Given the description of an element on the screen output the (x, y) to click on. 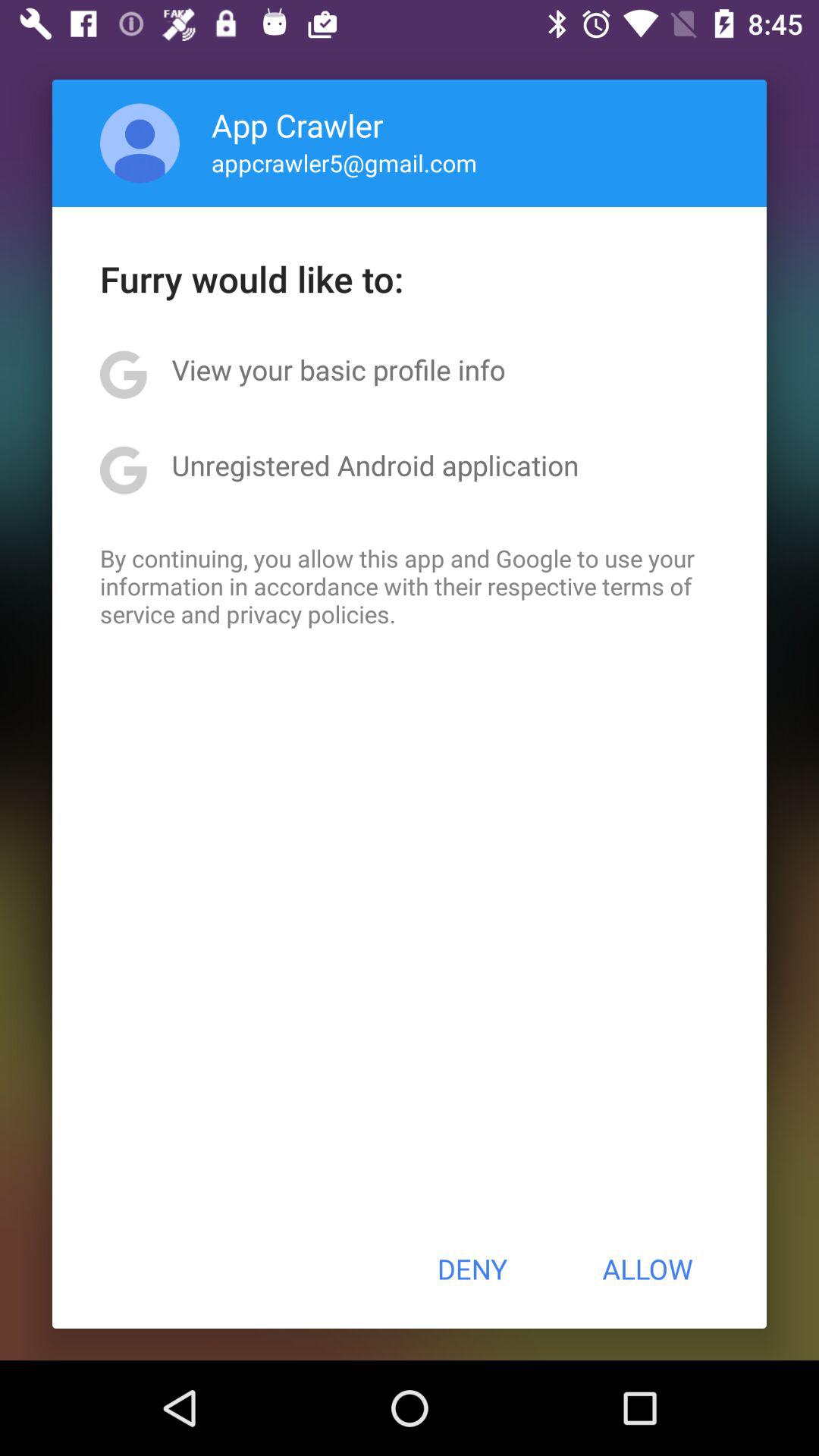
launch the button next to allow icon (471, 1268)
